Given the description of an element on the screen output the (x, y) to click on. 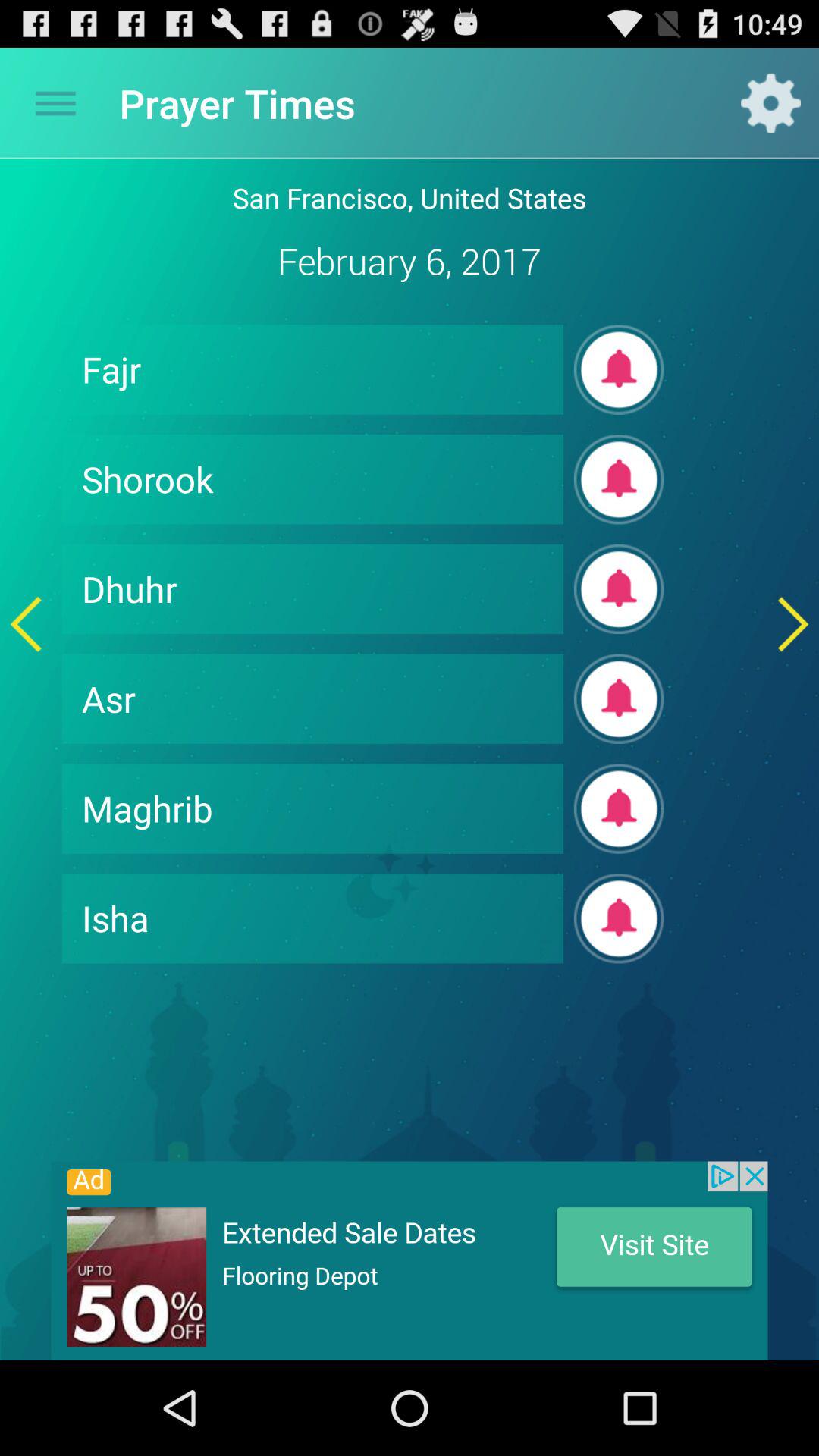
backward (25, 624)
